Given the description of an element on the screen output the (x, y) to click on. 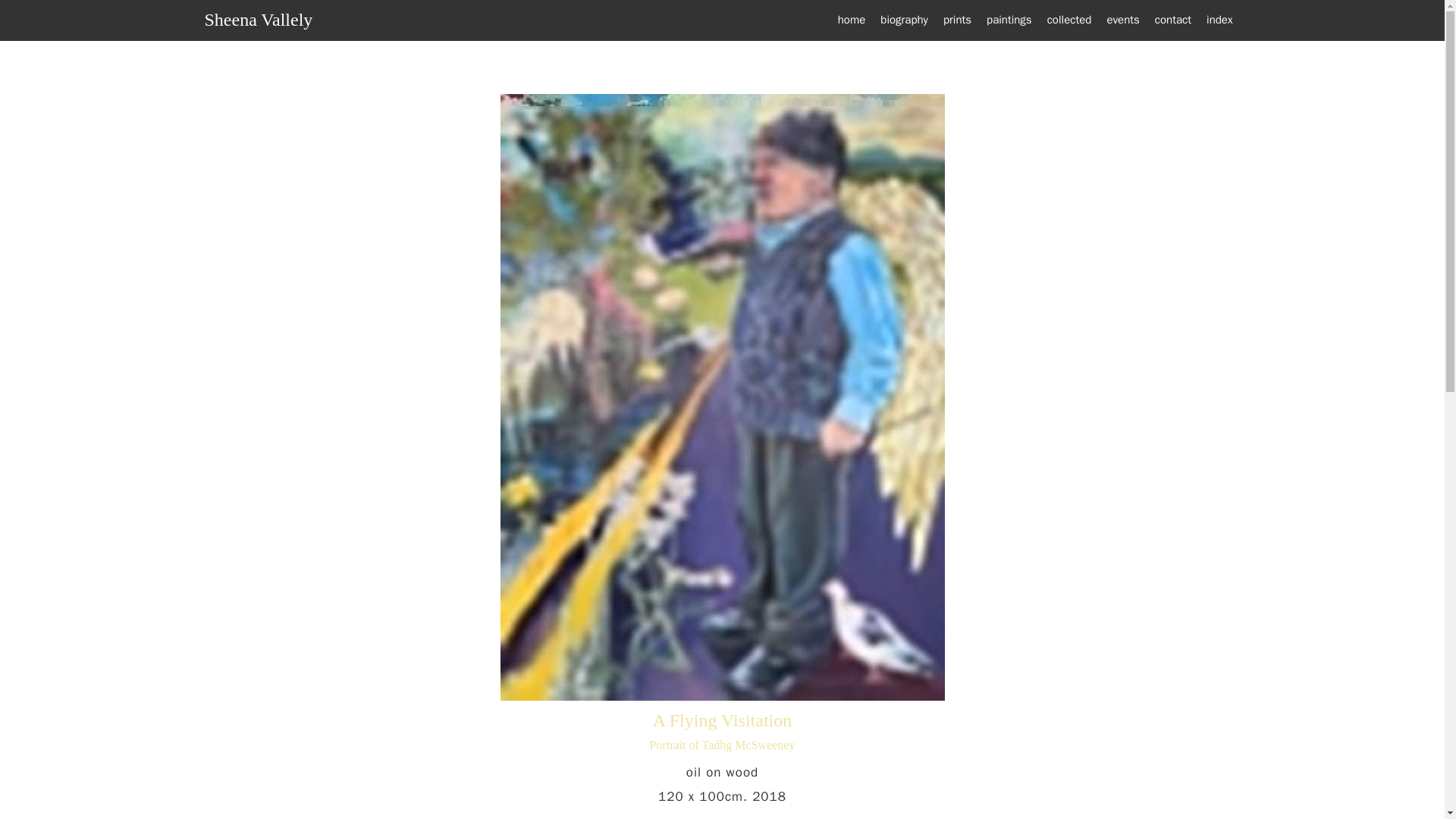
prints (957, 20)
collected (1069, 20)
events (1122, 20)
biography (904, 20)
Sheena Vallely (259, 19)
paintings (1009, 20)
index (1219, 20)
contact (1172, 20)
home (852, 20)
